Given the description of an element on the screen output the (x, y) to click on. 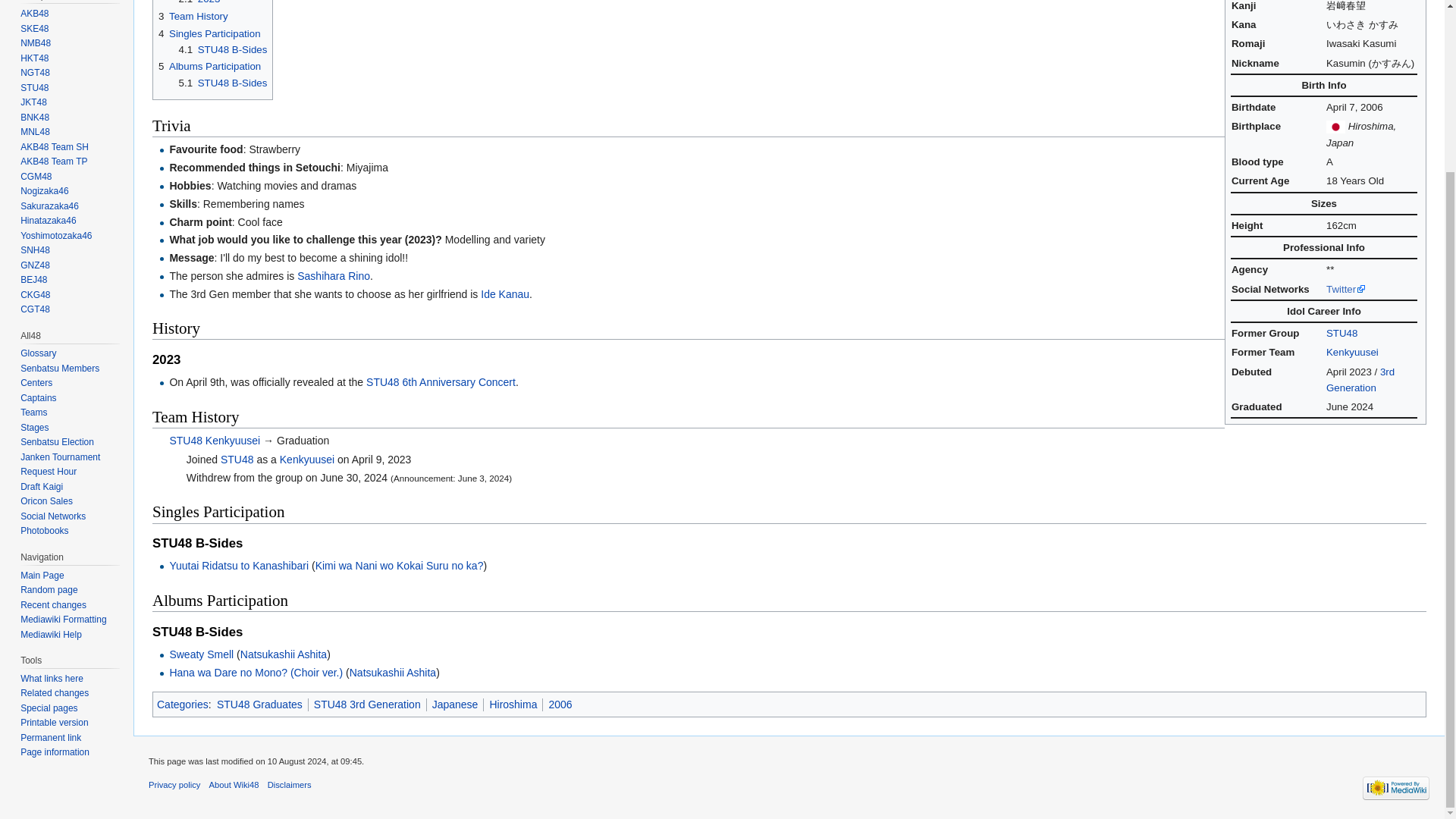
STU48 Members (1360, 379)
Sashihara Rino (333, 275)
Ide Kanau (504, 294)
5.1 STU48 B-Sides (223, 82)
STU48 (1341, 333)
Ide Kanau (504, 294)
3rd Generation (1360, 379)
Kimi wa Nani wo Kokai Suru no ka? (399, 565)
Natsukashii Ashita (283, 654)
Japanese (455, 704)
